Given the description of an element on the screen output the (x, y) to click on. 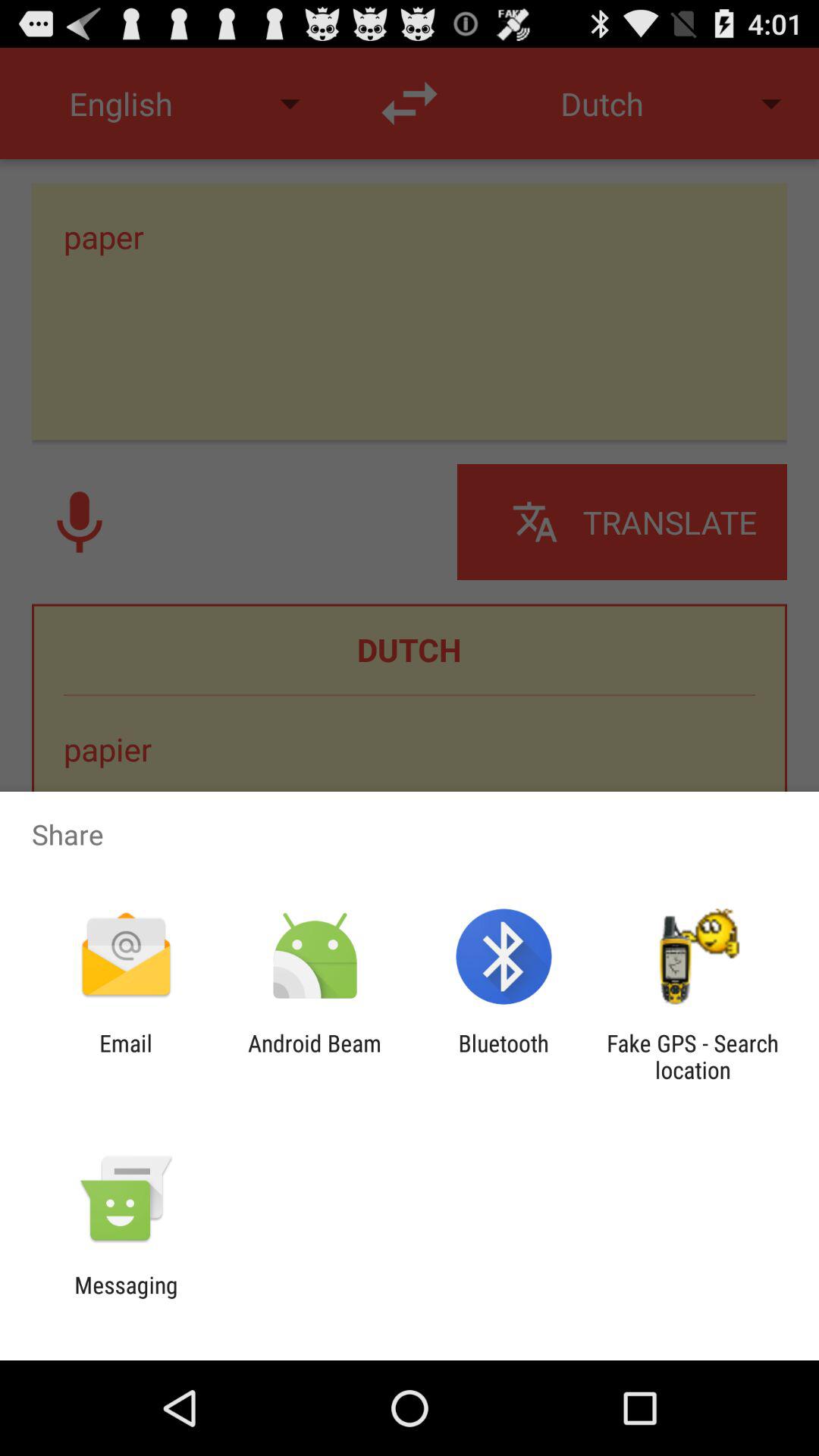
jump until the email item (125, 1056)
